Given the description of an element on the screen output the (x, y) to click on. 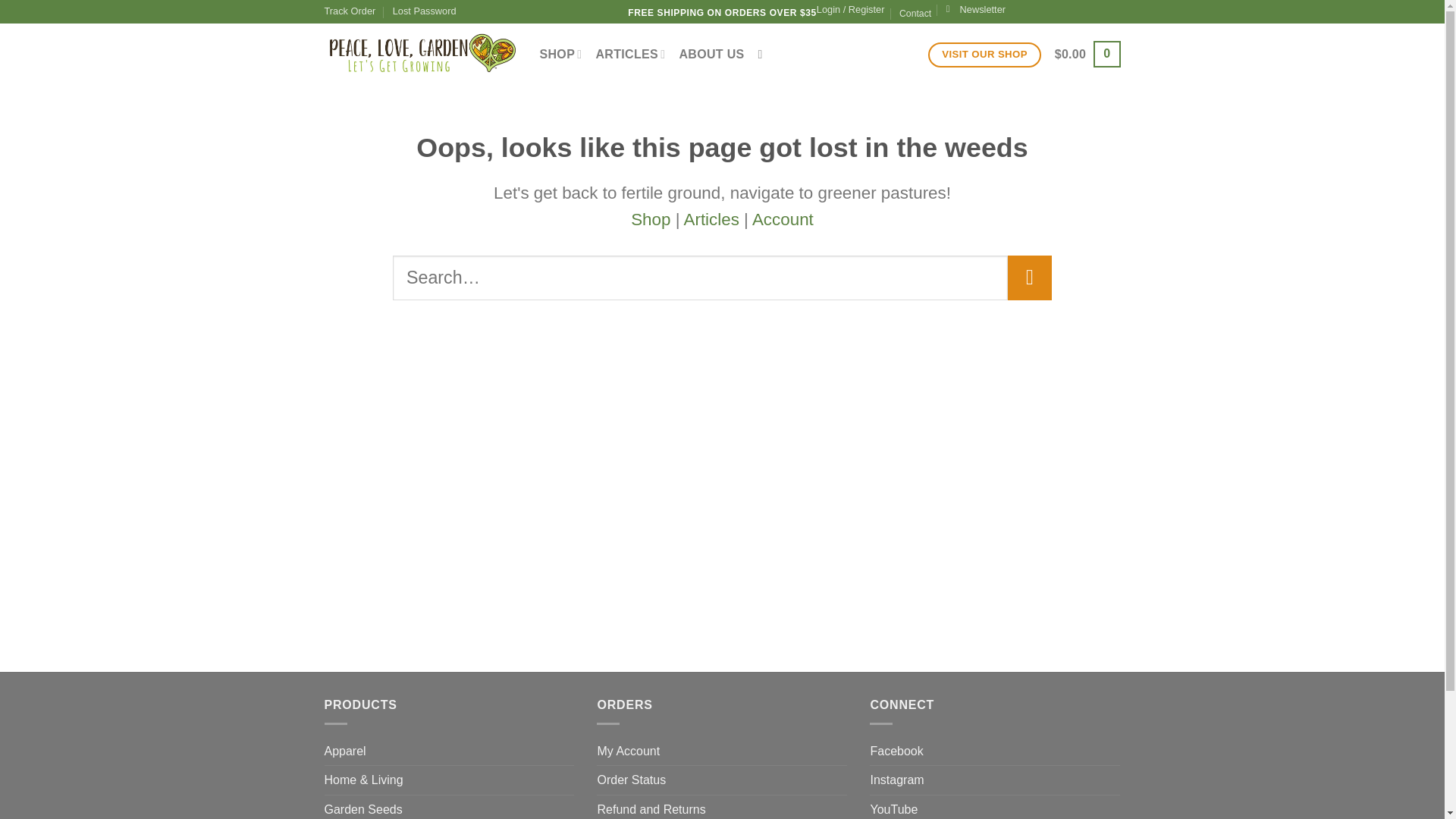
Contact (915, 13)
Login (850, 9)
Shop (649, 219)
Account (782, 219)
Track Order (349, 11)
SHOP (561, 53)
ABOUT US (711, 53)
ARTICLES (630, 53)
Articles (710, 219)
Peace Love Garden - Let's Get Growing (420, 53)
Join the Club (976, 9)
Newsletter (976, 9)
Cart (1087, 53)
VISIT OUR SHOP (984, 54)
Lost Password (425, 11)
